Given the description of an element on the screen output the (x, y) to click on. 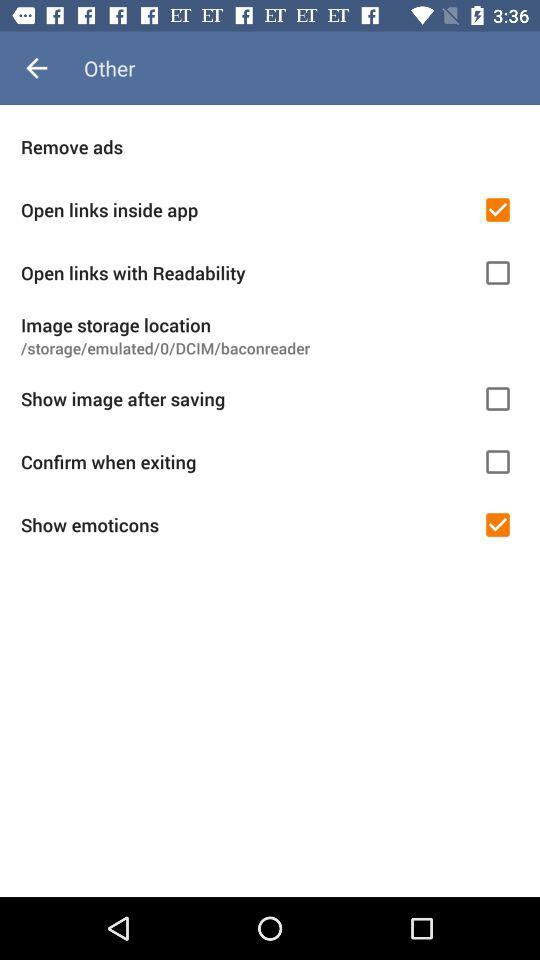
tap the item next to other item (36, 68)
